Given the description of an element on the screen output the (x, y) to click on. 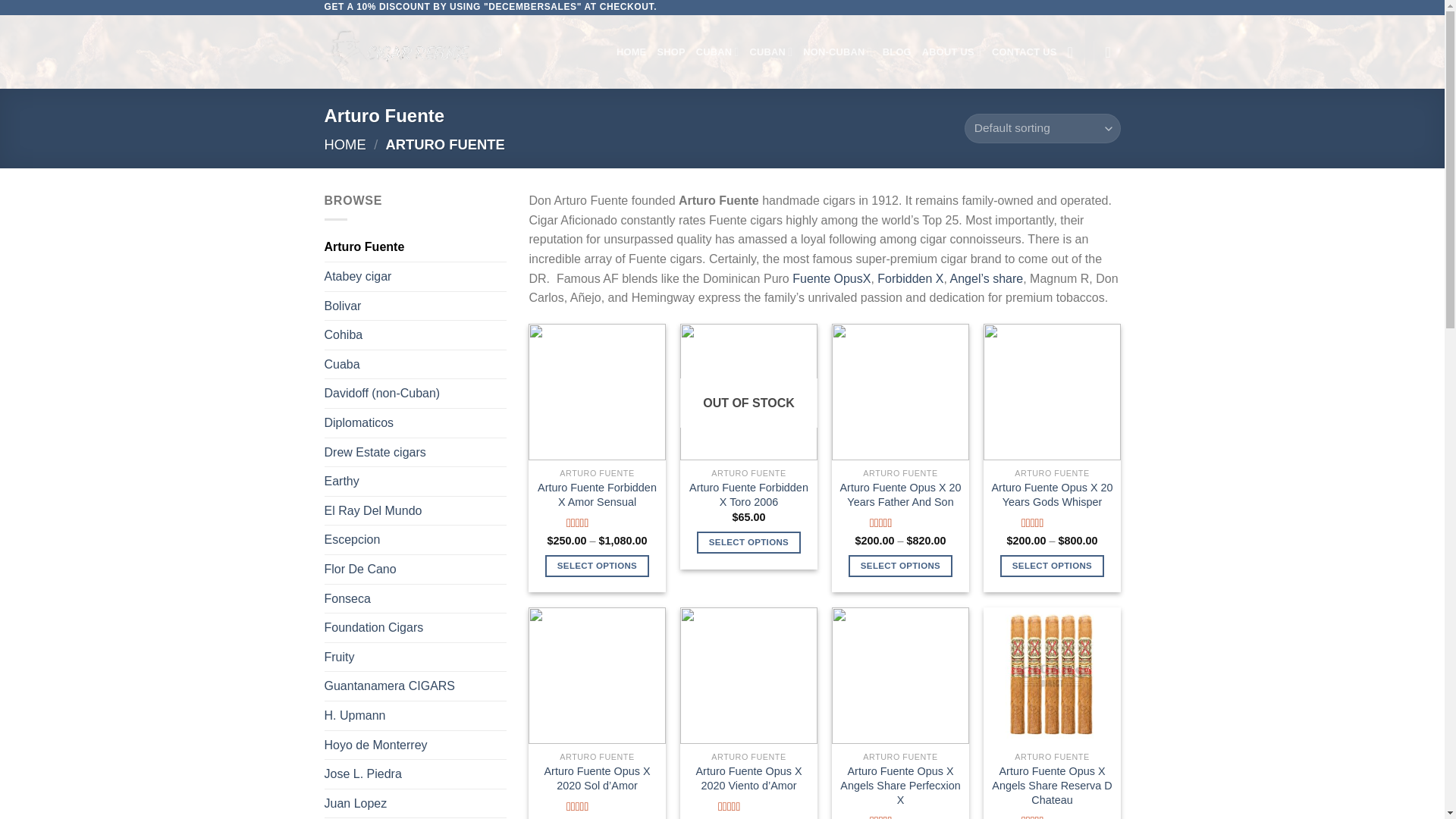
HOME (630, 51)
CIGAR REFUGE - Only the Finest Cigars. (400, 51)
NON-CUBAN (837, 51)
SHOP (670, 51)
CUBAN (770, 51)
CUBAN (717, 51)
